Given the description of an element on the screen output the (x, y) to click on. 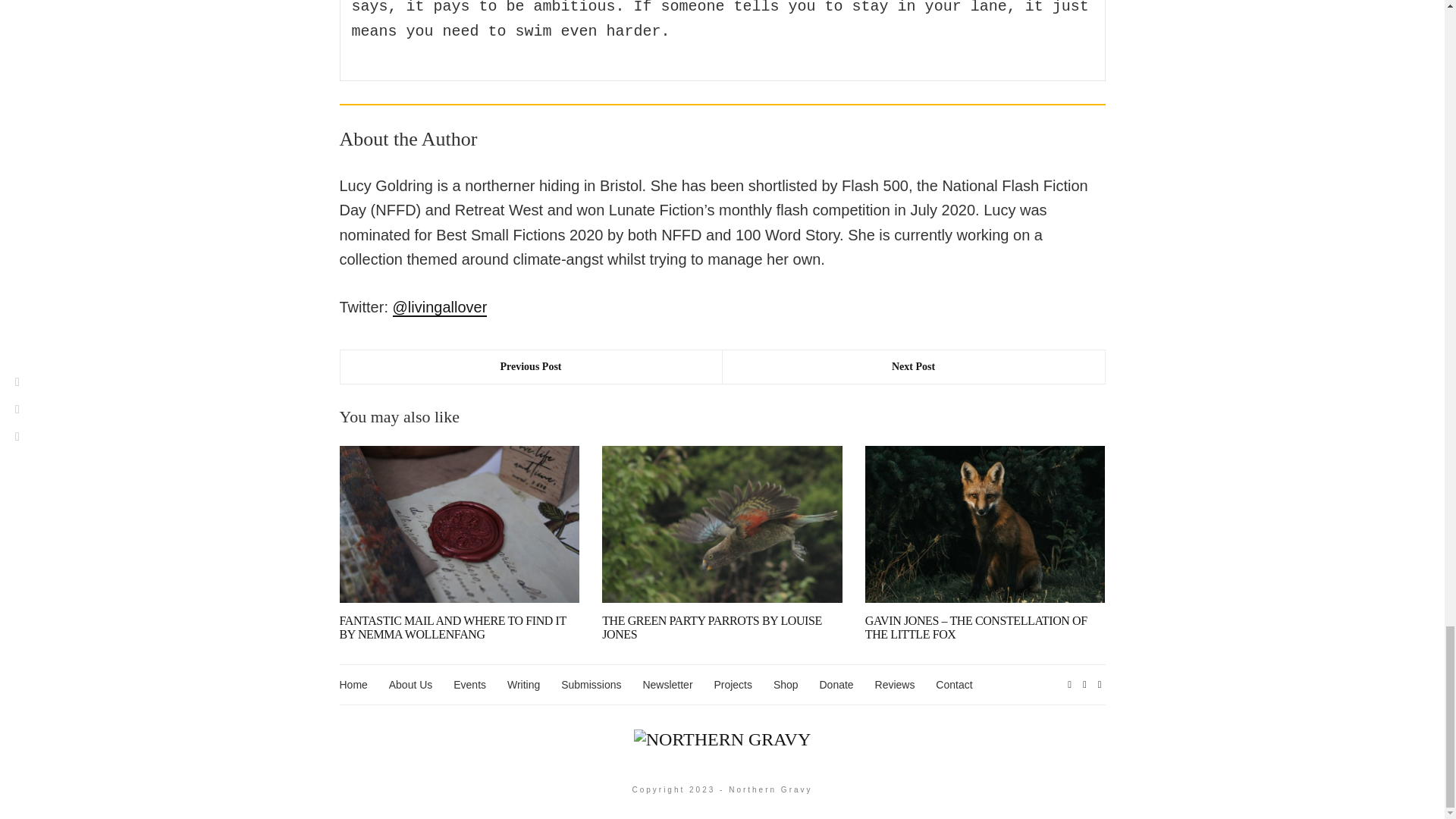
Previous Post (530, 367)
FANTASTIC MAIL AND WHERE TO FIND IT BY NEMMA WOLLENFANG (452, 627)
THE GREEN PARTY PARROTS BY LOUISE JONES (712, 627)
Next Post (912, 367)
